Given the description of an element on the screen output the (x, y) to click on. 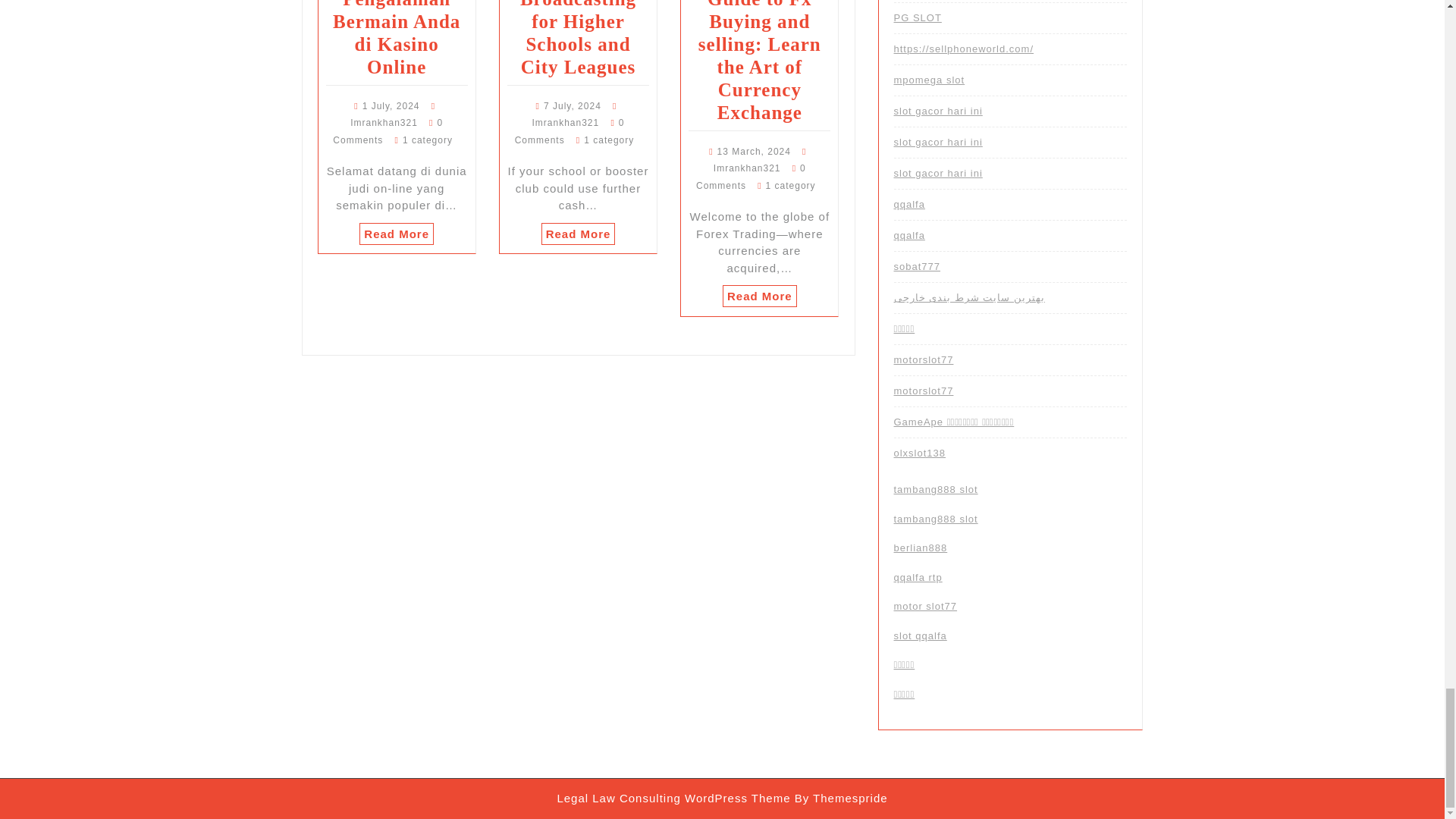
Read More (396, 233)
Read More (578, 233)
Meningkatkan Pengalaman Bermain Anda di Kasino Online (397, 38)
Read More (759, 296)
Read More (396, 233)
Read More (578, 233)
Read More (759, 296)
